Given the description of an element on the screen output the (x, y) to click on. 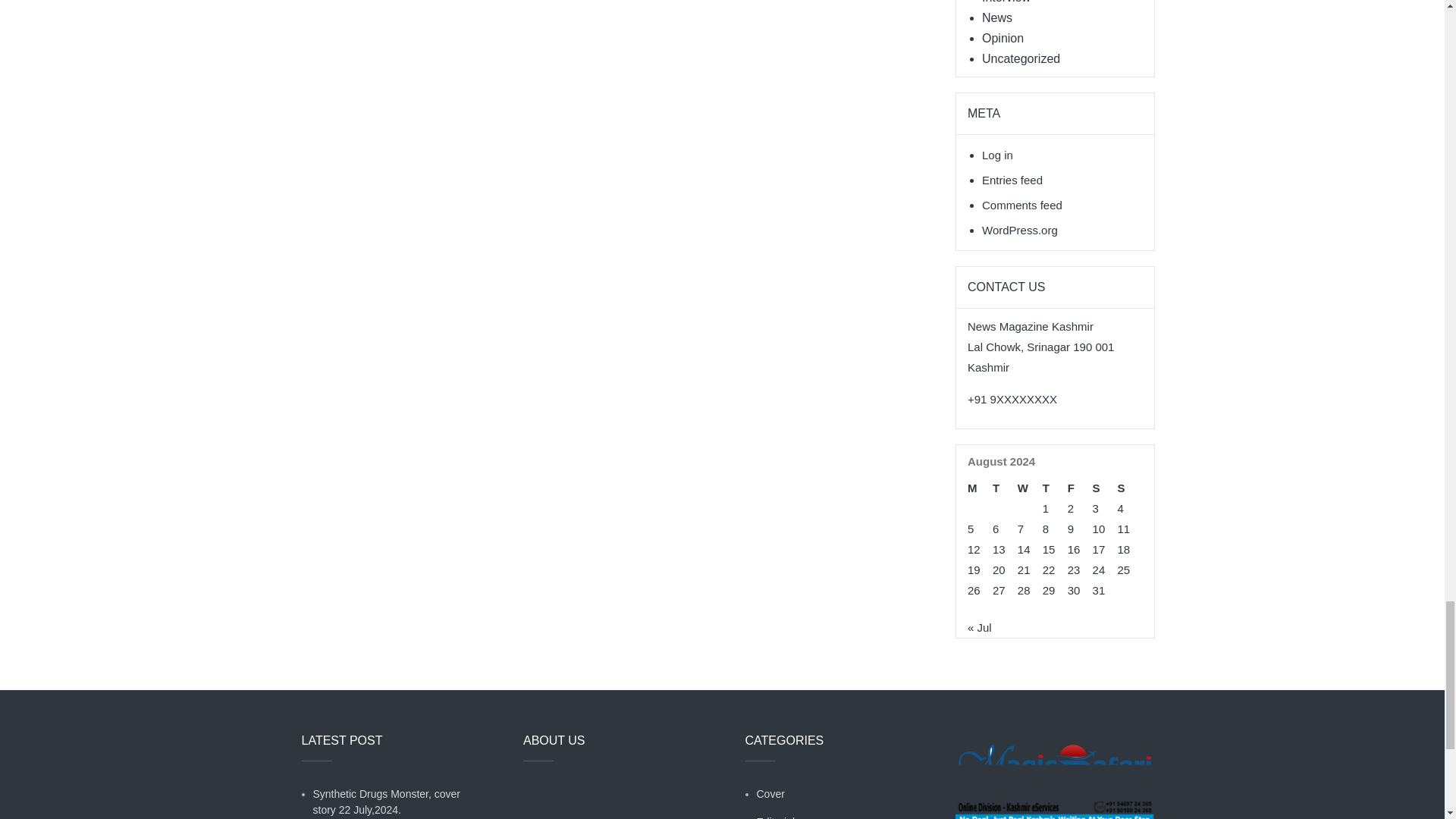
Sunday (1130, 487)
262x220 Ads (1054, 755)
Monday (980, 487)
Tuesday (1004, 487)
Wednesday (1029, 487)
Saturday (1105, 487)
Thursday (1054, 487)
262x220 Ads (1054, 816)
Friday (1080, 487)
